Given the description of an element on the screen output the (x, y) to click on. 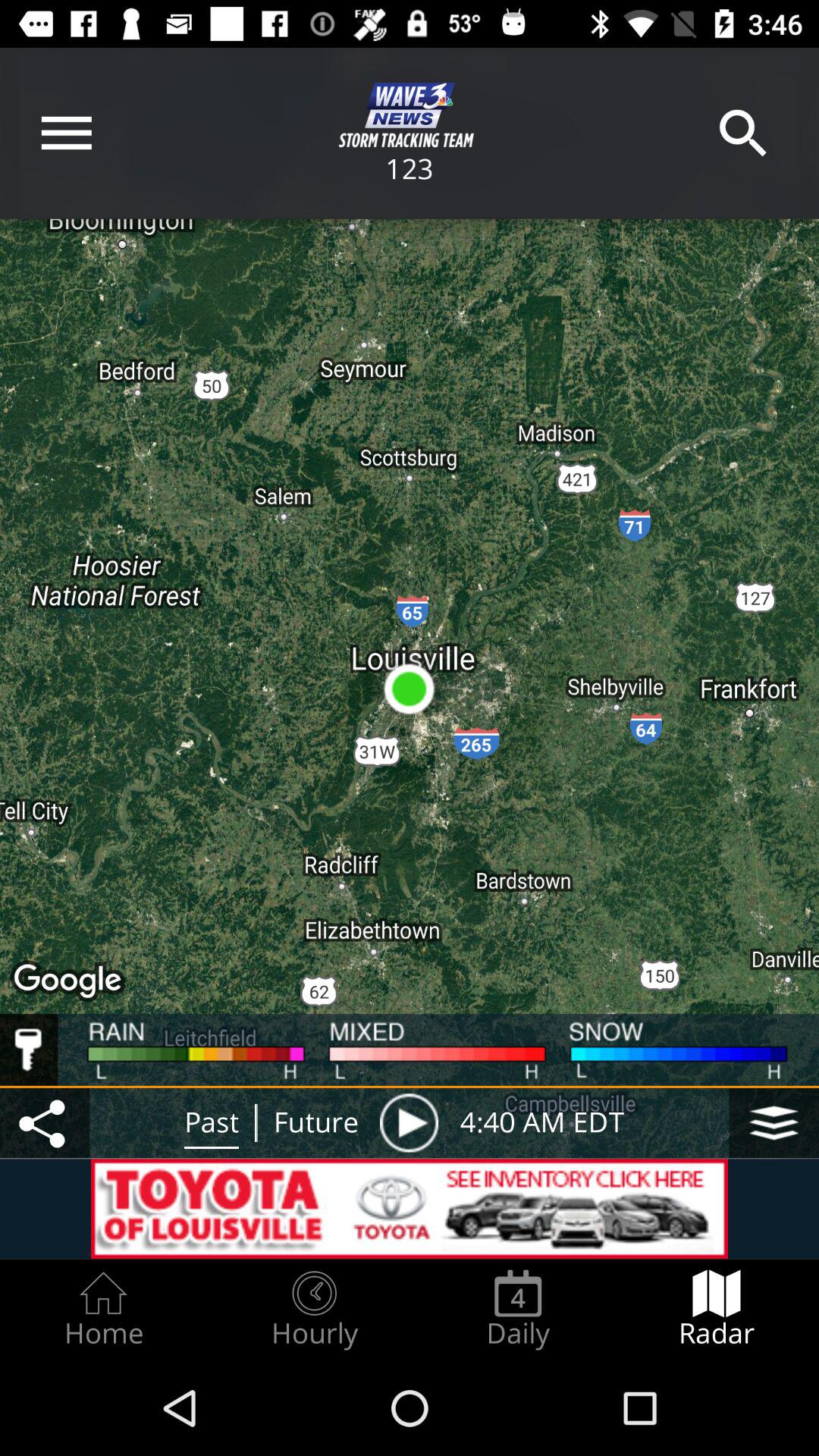
turn on the radio button next to the hourly item (518, 1309)
